Given the description of an element on the screen output the (x, y) to click on. 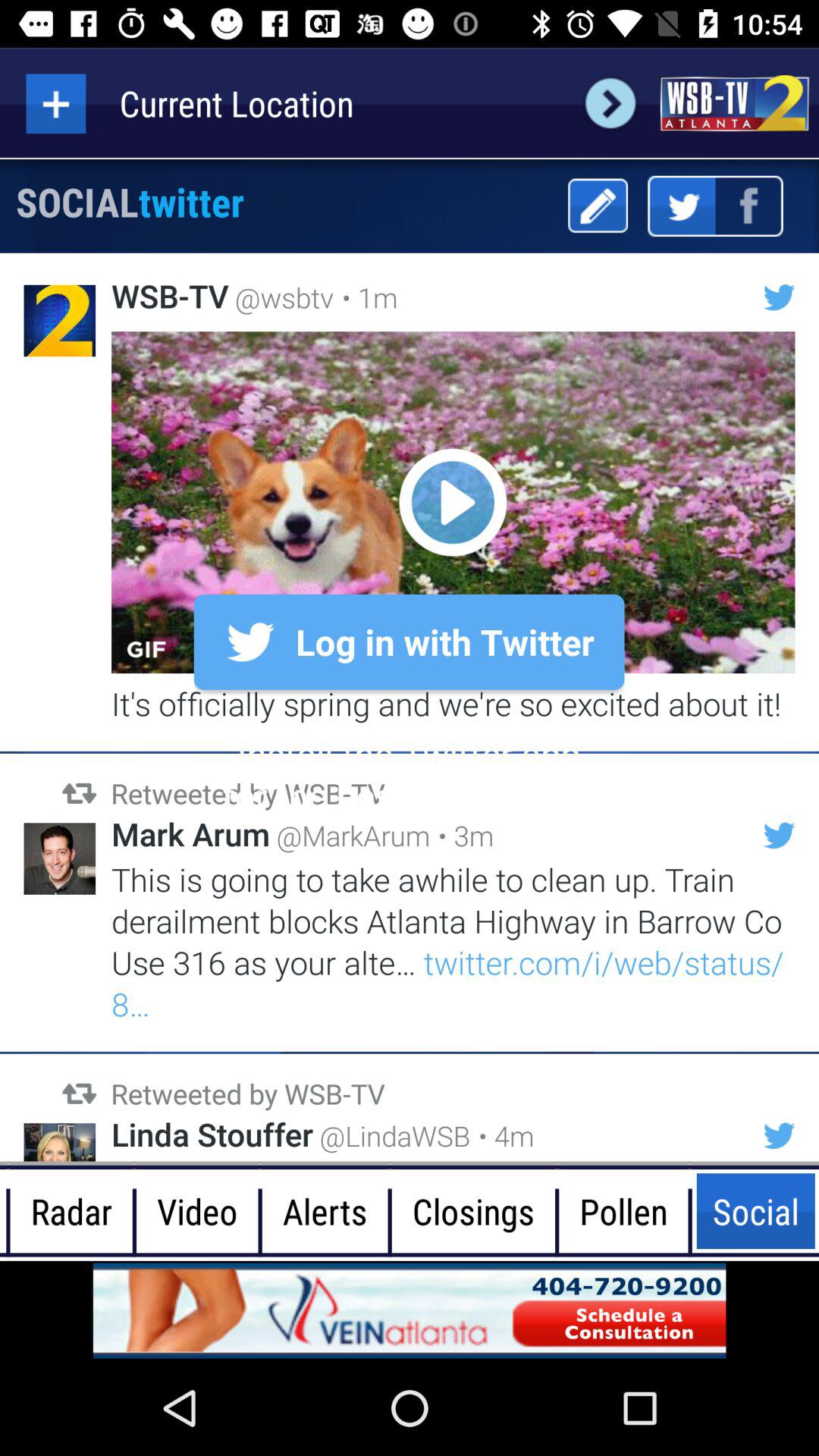
play video (453, 502)
